Given the description of an element on the screen output the (x, y) to click on. 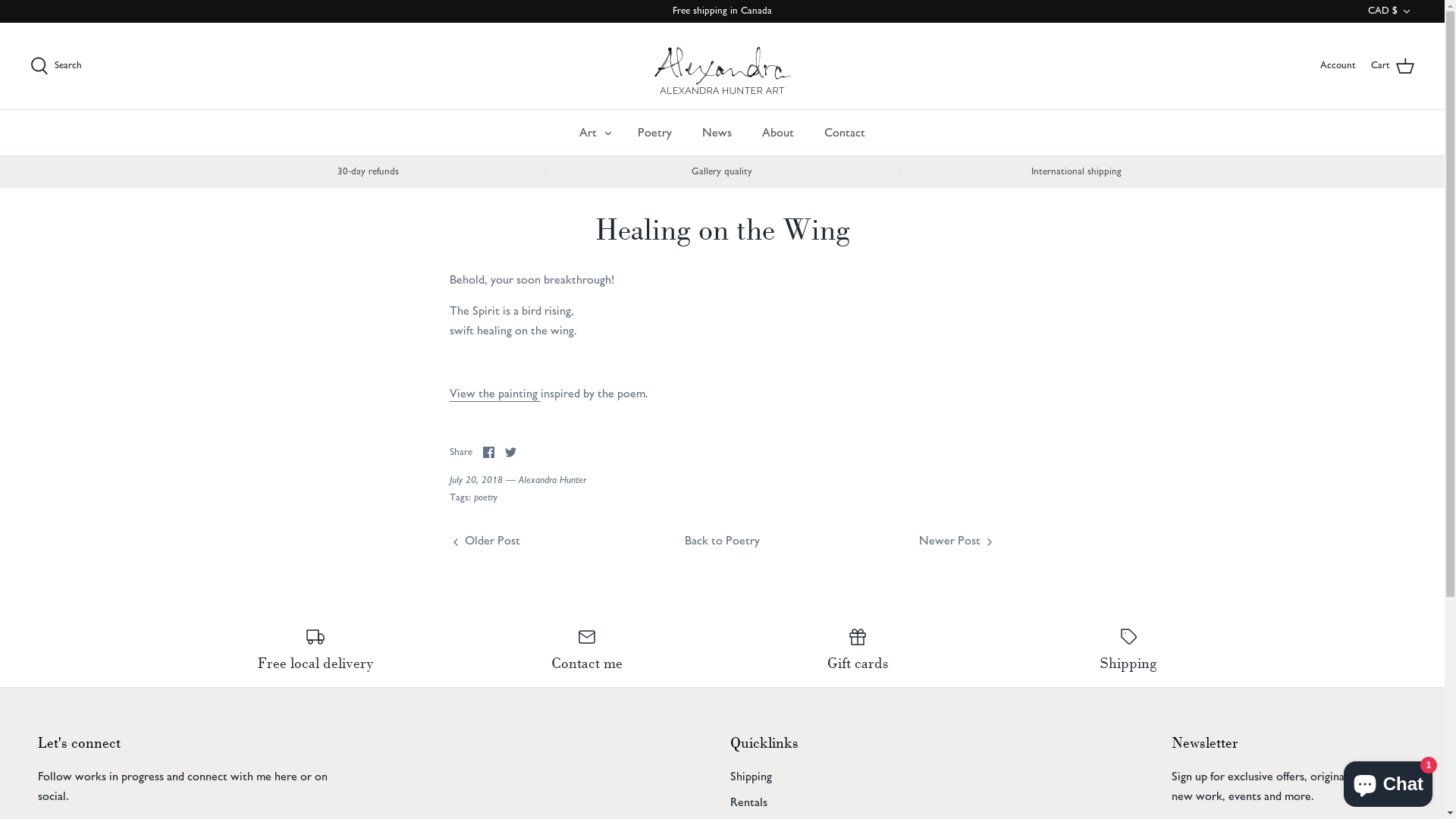
CAD $
Down Element type: text (1391, 11)
Free shipping in Canada Element type: text (721, 11)
Rentals Element type: text (747, 801)
News Element type: text (716, 132)
Shipping Element type: text (750, 775)
Shopify online store chat Element type: hover (1388, 780)
Twitter
Share on Twitter Element type: text (510, 452)
Cart Element type: text (1392, 65)
Toggle menu Element type: text (607, 132)
poetry Element type: text (484, 497)
Alexandra Hunter Art Element type: hover (721, 65)
About Element type: text (777, 132)
Newer Post Right Element type: text (957, 538)
Art Element type: text (587, 132)
Account Element type: text (1337, 65)
Back to Poetry Element type: text (721, 540)
30-day refunds Element type: text (368, 171)
Contact Element type: text (844, 132)
Label
Shipping Element type: text (1128, 648)
View the painting Element type: text (493, 393)
Facebook
Share on Facebook Element type: text (487, 452)
Left Older Post Element type: text (483, 538)
Contact me Element type: text (586, 648)
International shipping Element type: text (1076, 171)
Poetry Element type: text (654, 132)
Search Element type: text (55, 65)
